Given the description of an element on the screen output the (x, y) to click on. 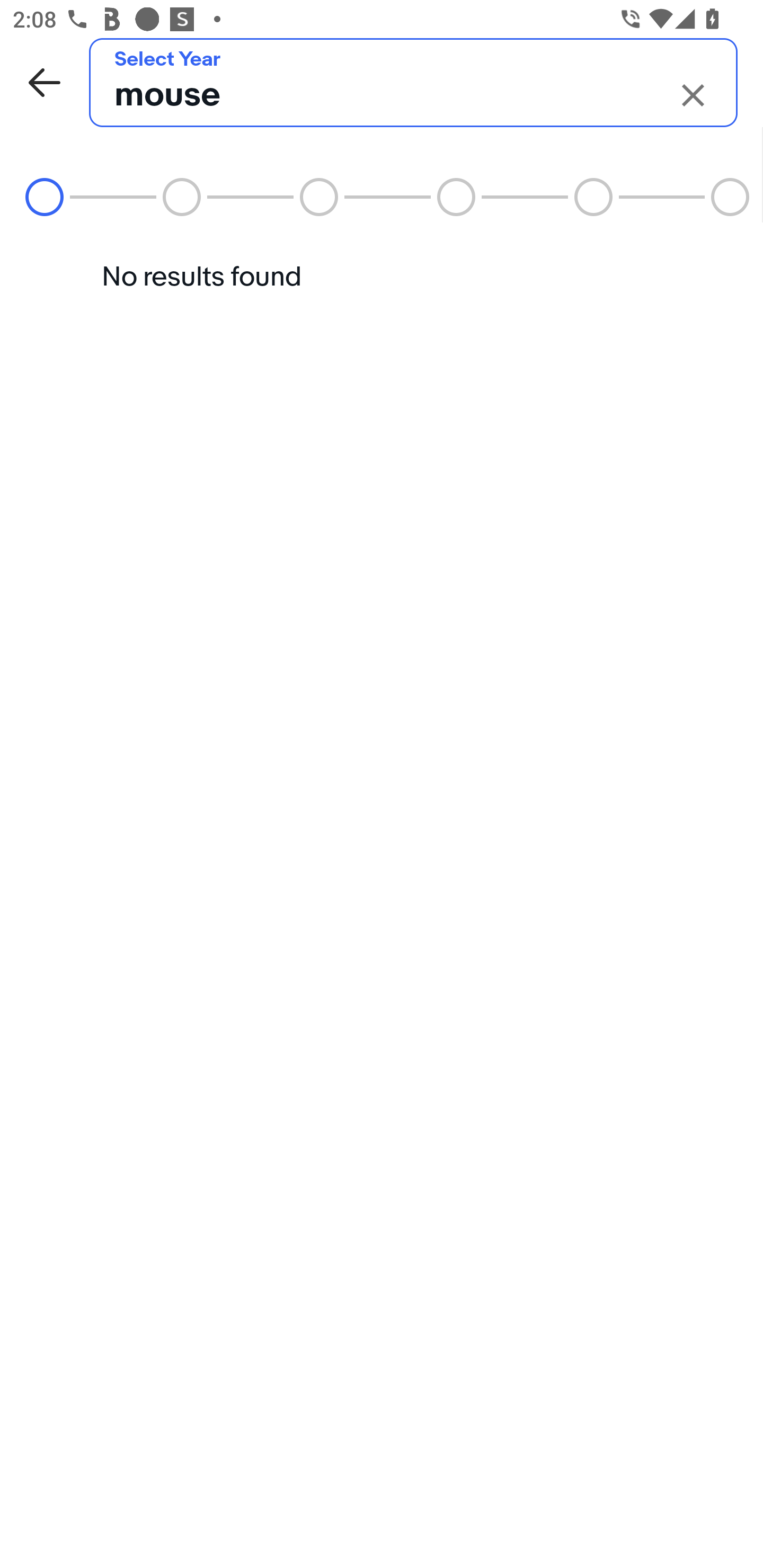
Back (44, 82)
mouse (413, 82)
